Given the description of an element on the screen output the (x, y) to click on. 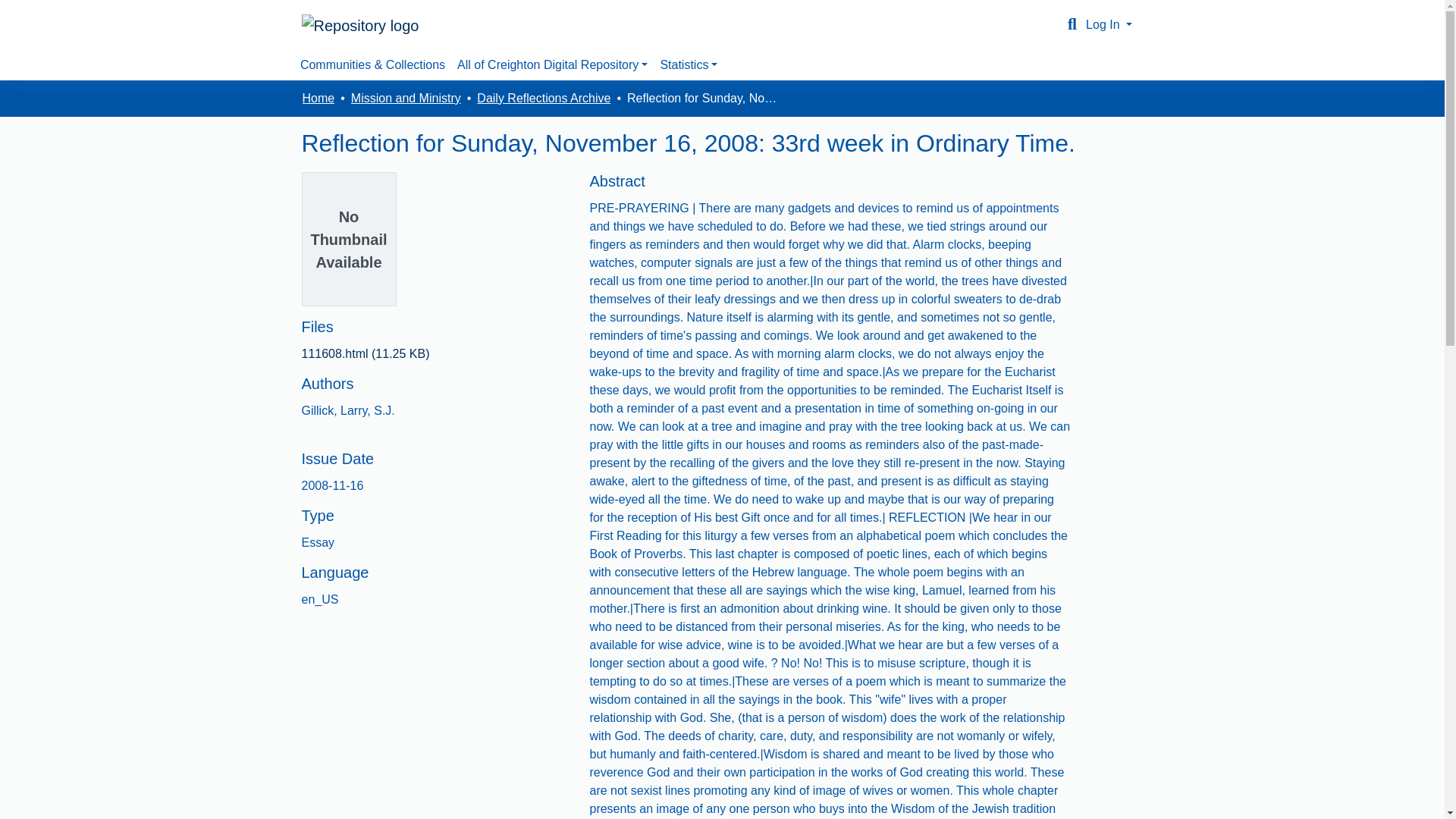
Statistics (688, 64)
Search (1072, 24)
Mission and Ministry (405, 98)
All of Creighton Digital Repository (552, 64)
Daily Reflections Archive (543, 98)
Home (317, 98)
Log In (1108, 24)
